Given the description of an element on the screen output the (x, y) to click on. 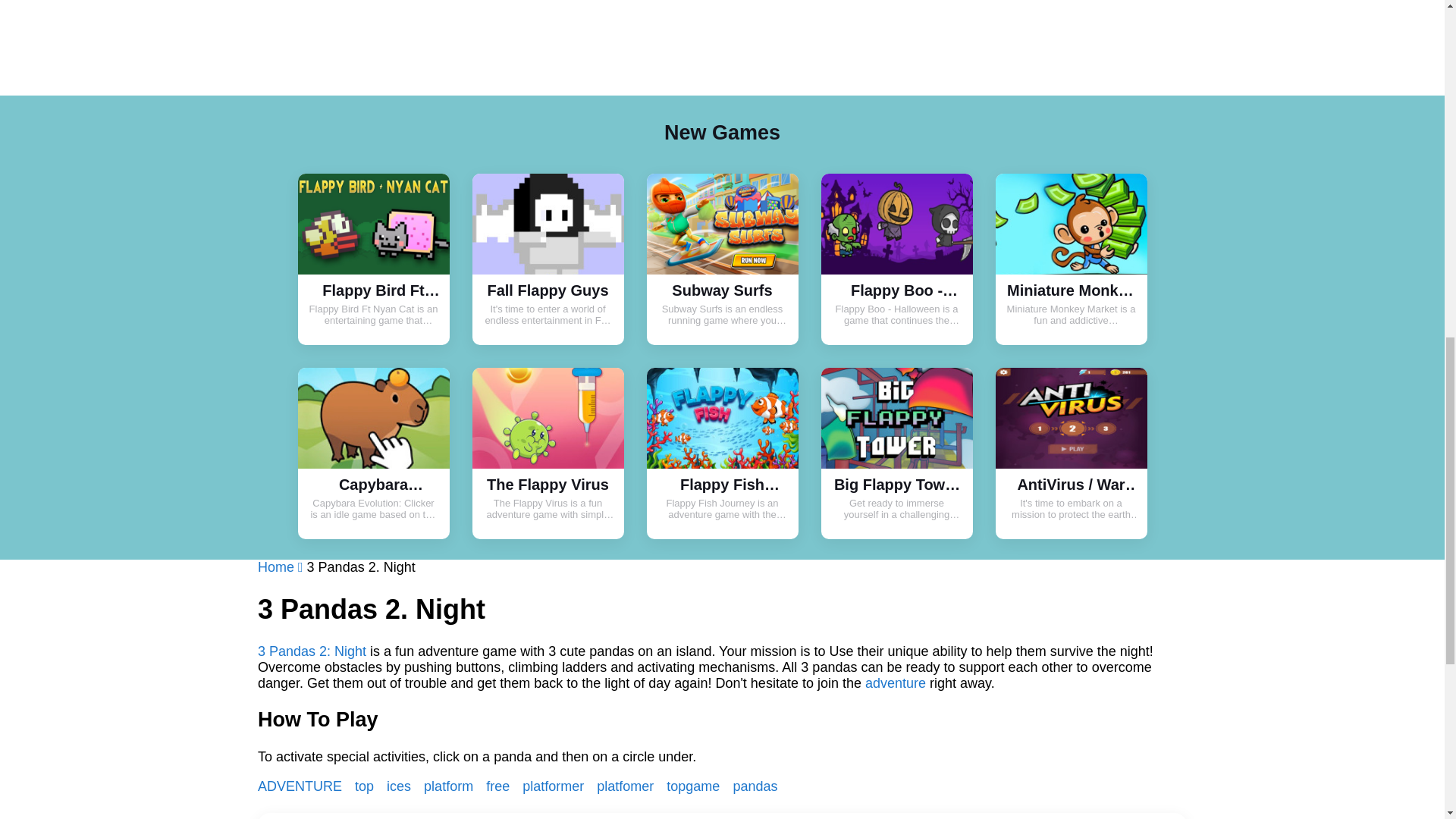
Home (282, 567)
platformer (555, 785)
topgame (694, 785)
pandas (754, 785)
platfomer (627, 785)
platformer (555, 785)
pandas (754, 785)
free (499, 785)
adventure (895, 683)
ices (400, 785)
PLATFORM (450, 785)
3 Pandas 2: Night (311, 651)
top (366, 785)
TOP (366, 785)
FREE (499, 785)
